Given the description of an element on the screen output the (x, y) to click on. 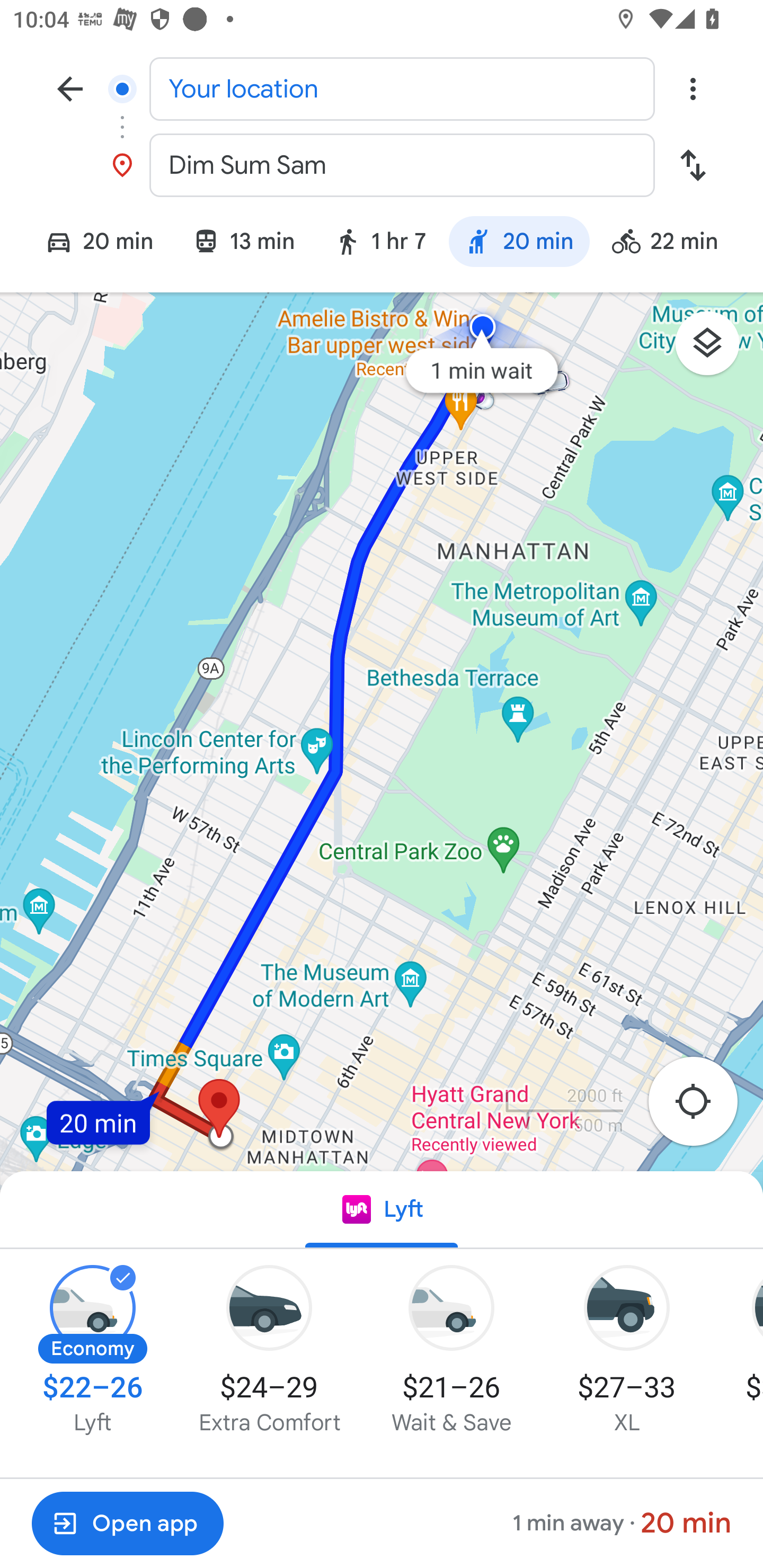
Navigate up (70, 88)
Your location Start location, Your location (381, 88)
Overflow menu (692, 88)
Dim Sum Sam Destination, Dim Sum Sam (381, 165)
Swap start and destination (692, 165)
Driving mode: 20 min 20 min (90, 244)
Transit mode: 13 min 13 min (243, 244)
Walking mode: 1 hr 7 1 hr 7 (379, 244)
Bicycling mode: 22 min 22 min (672, 244)
Layers (716, 349)
Re-center map to your location (702, 1106)
Lyft (381, 1209)
Extra seats
XL
$27 to $33 $27–33 $27 to $33 XL (627, 1350)
Open app Open app Open app (127, 1522)
